Given the description of an element on the screen output the (x, y) to click on. 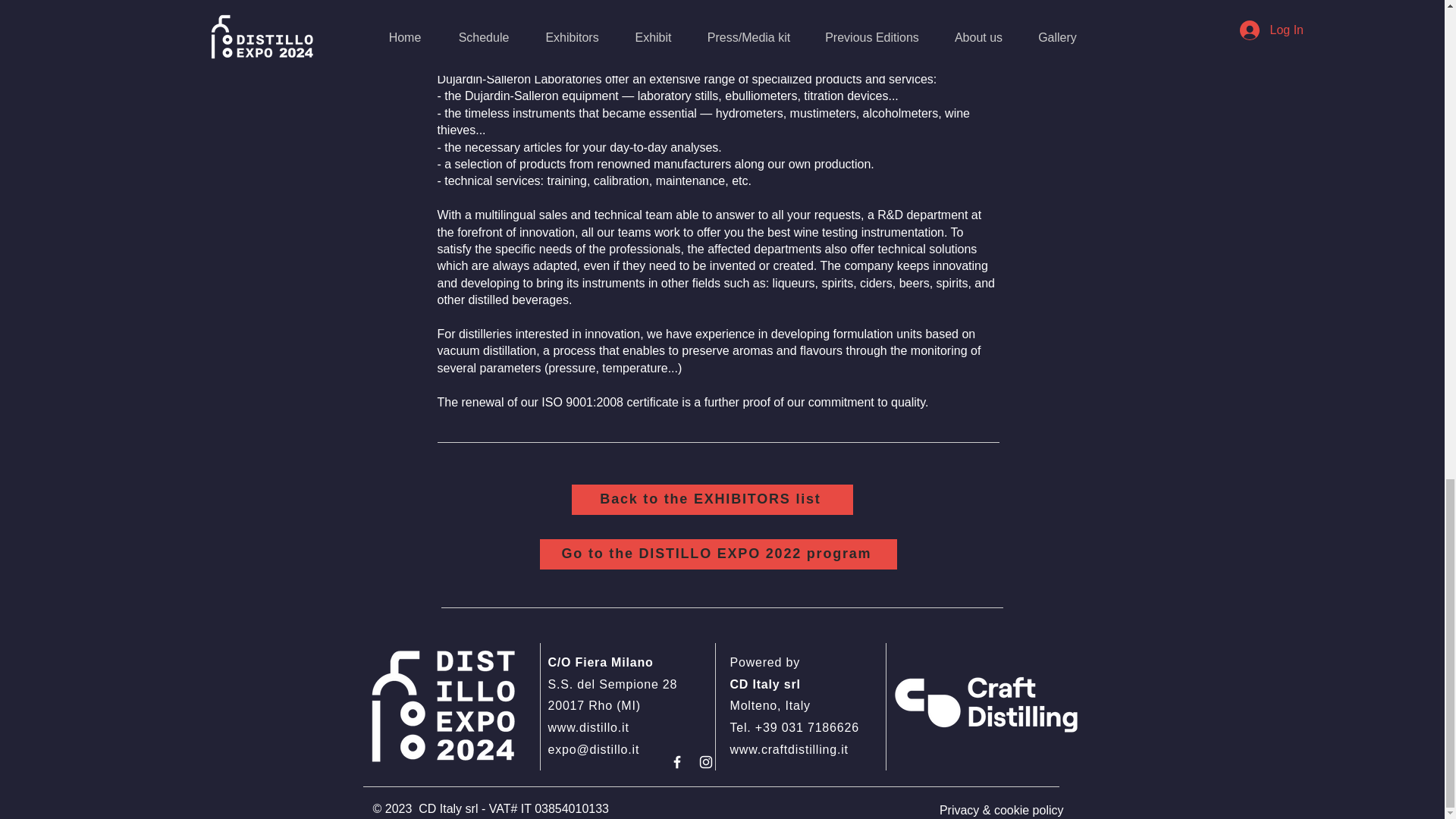
www.distillo.it (587, 727)
Back to the EXHIBITORS list (712, 499)
www.craftdistilling.it (788, 748)
Go to the DISTILLO EXPO 2022 program (718, 553)
Distillo Logo 2024 vertical trans. white (443, 706)
